Given the description of an element on the screen output the (x, y) to click on. 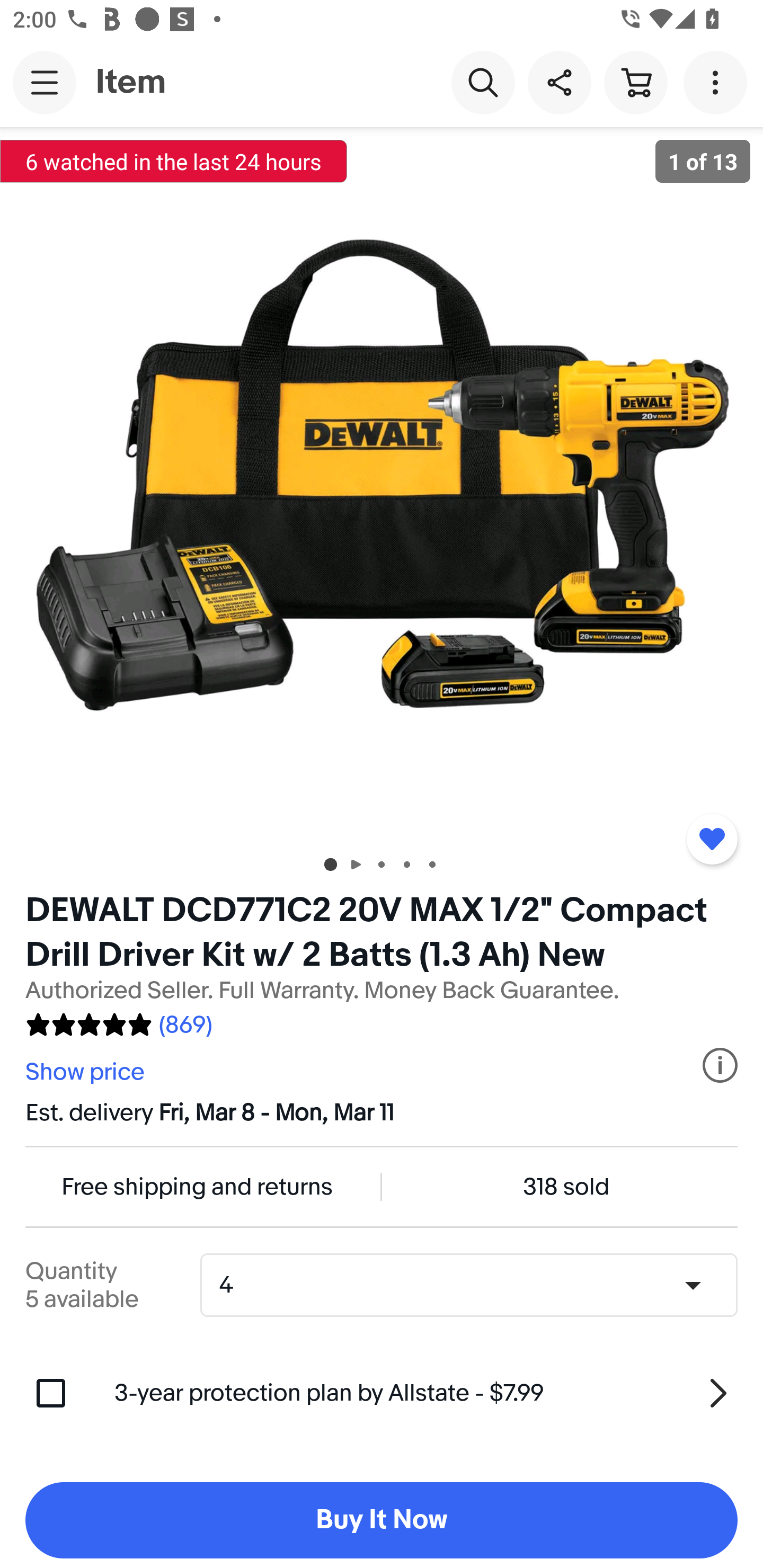
Main navigation, open (44, 82)
Search (482, 81)
Share this item (559, 81)
Cart button shopping cart (635, 81)
More options (718, 81)
Item image 1 of 13 (381, 482)
6 watched in the last 24 hours (173, 161)
Added to watchlist (711, 838)
More information (719, 1065)
Show price (87, 1072)
Quantity,4,5 available 4 (474, 1284)
3-year protection plan by Allstate - $7.99 (425, 1392)
Buy It Now (381, 1519)
